Given the description of an element on the screen output the (x, y) to click on. 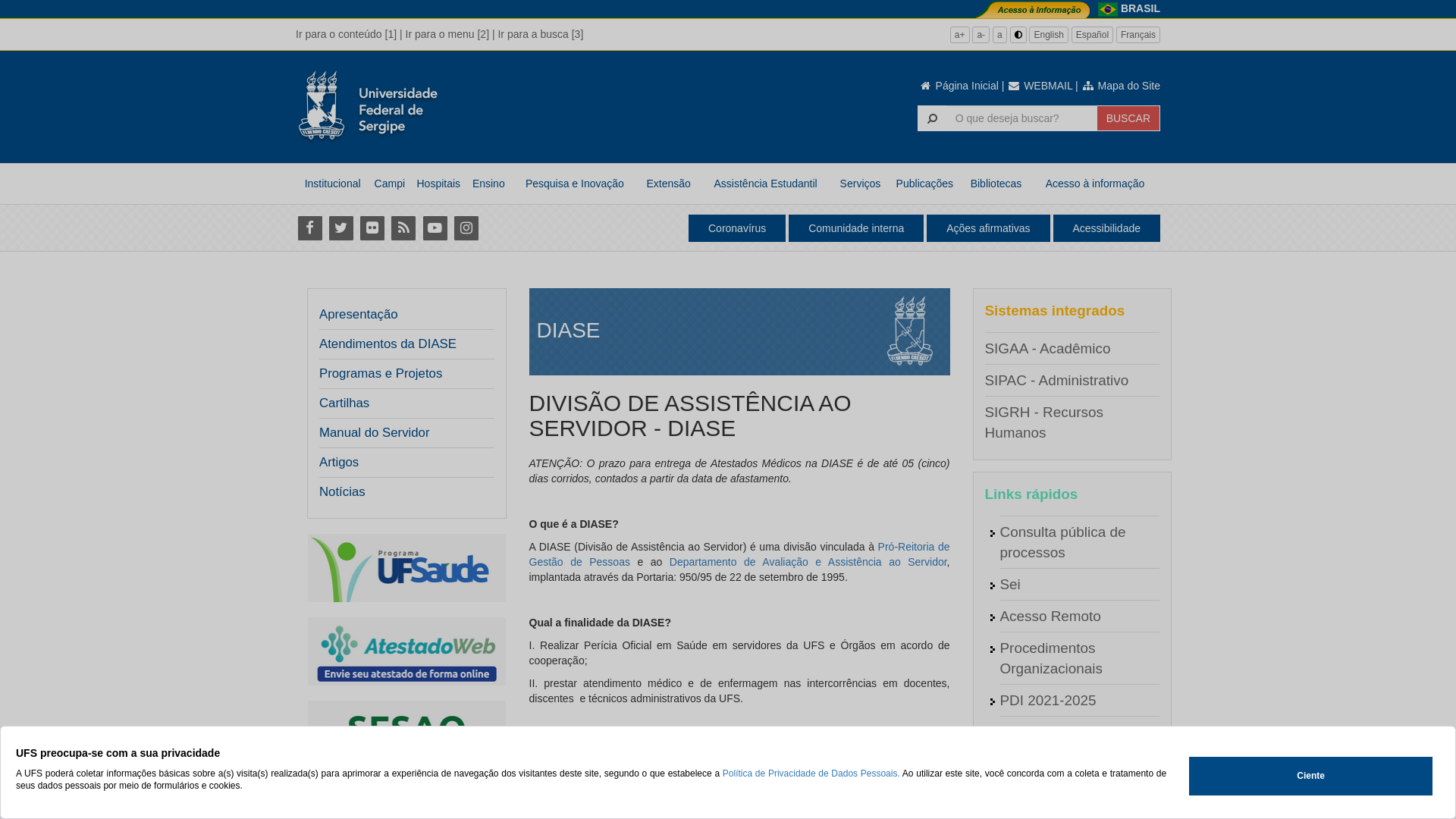
Institucional Element type: text (332, 183)
Acesso Remoto Element type: text (1049, 616)
Comunidade interna Element type: text (855, 227)
BUSCAR Element type: text (1128, 118)
a- Element type: text (980, 34)
SIPAC - Administrativo Element type: text (1056, 380)
Artigos Element type: text (338, 462)
SIGRH - Recursos Humanos Element type: text (1043, 422)
Ir para o menu [2] Element type: text (447, 34)
Youtube Element type: text (434, 227)
Flickr Element type: text (371, 227)
a+ Element type: text (959, 34)
Atendimentos da DIASE Element type: text (387, 343)
a Element type: text (999, 34)
Agenda do Reitor Element type: text (1054, 732)
Cartilhas Element type: text (402, 403)
Instagram Element type: text (465, 227)
Ir para a busca [3] Element type: text (540, 34)
RSS Element type: text (403, 227)
Twitter Element type: text (340, 227)
Campi Element type: text (389, 183)
Sei Element type: text (1009, 584)
Telefones Element type: text (1029, 795)
English Element type: text (1048, 34)
Procedimentos Organizacionais Element type: text (1050, 658)
Agenda do Vice-Reitor Element type: text (1071, 763)
Programas e Projetos Element type: text (402, 373)
PDI 2021-2025 Element type: text (1047, 700)
WEBMAIL Element type: text (1039, 85)
Hospitais Element type: text (438, 183)
Ensino Element type: text (488, 183)
BRASIL Element type: text (1140, 8)
Bibliotecas Element type: text (995, 183)
Manual do Servidor Element type: text (374, 432)
Mapa do Site Element type: text (1120, 85)
Acessibilidade Element type: text (1106, 227)
Facebook Element type: text (309, 227)
